Given the description of an element on the screen output the (x, y) to click on. 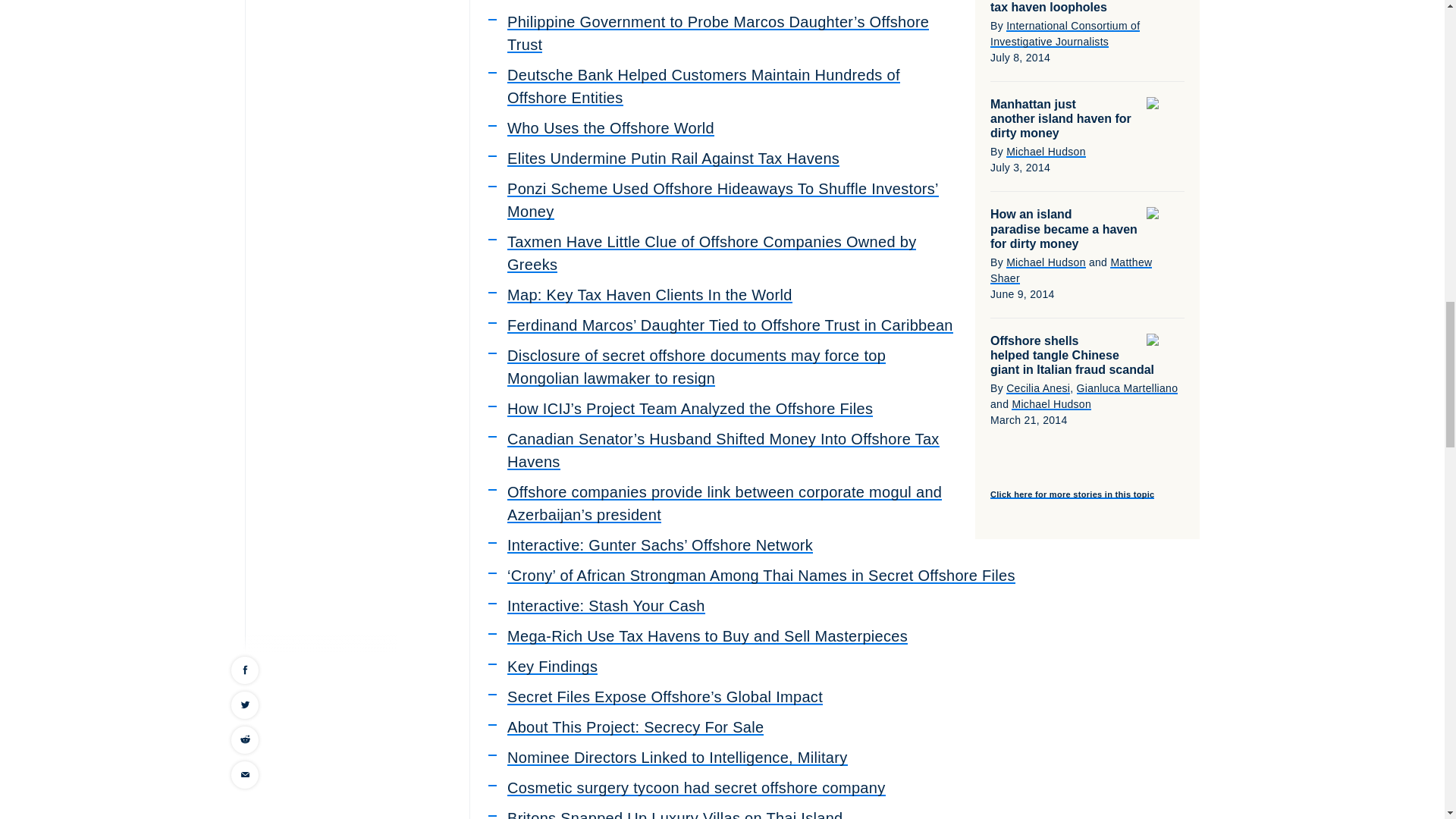
International Consortium of Investigative Journalists (1065, 33)
Michael Hudson (1046, 262)
Michael Hudson (1046, 151)
Manhattan just another island haven for dirty money (1060, 118)
New bank leak shows how rich exploit tax haven loopholes (1057, 6)
How an island paradise became a haven for dirty money (1063, 228)
